Given the description of an element on the screen output the (x, y) to click on. 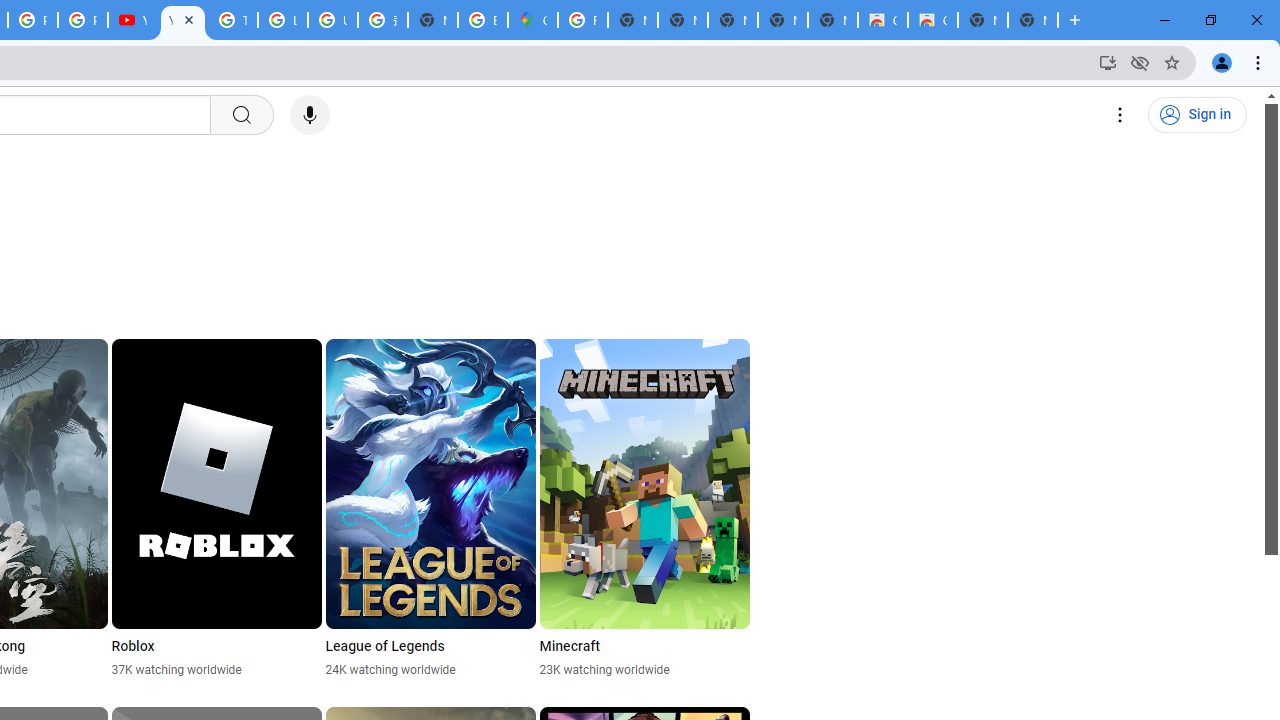
Classic Blue - Chrome Web Store (882, 20)
League of Legends 24K watching worldwide (430, 508)
Privacy Checkup (82, 20)
New Tab (433, 20)
Google Maps (533, 20)
YouTube (182, 20)
Classic Blue - Chrome Web Store (932, 20)
Search with your voice (309, 115)
